Given the description of an element on the screen output the (x, y) to click on. 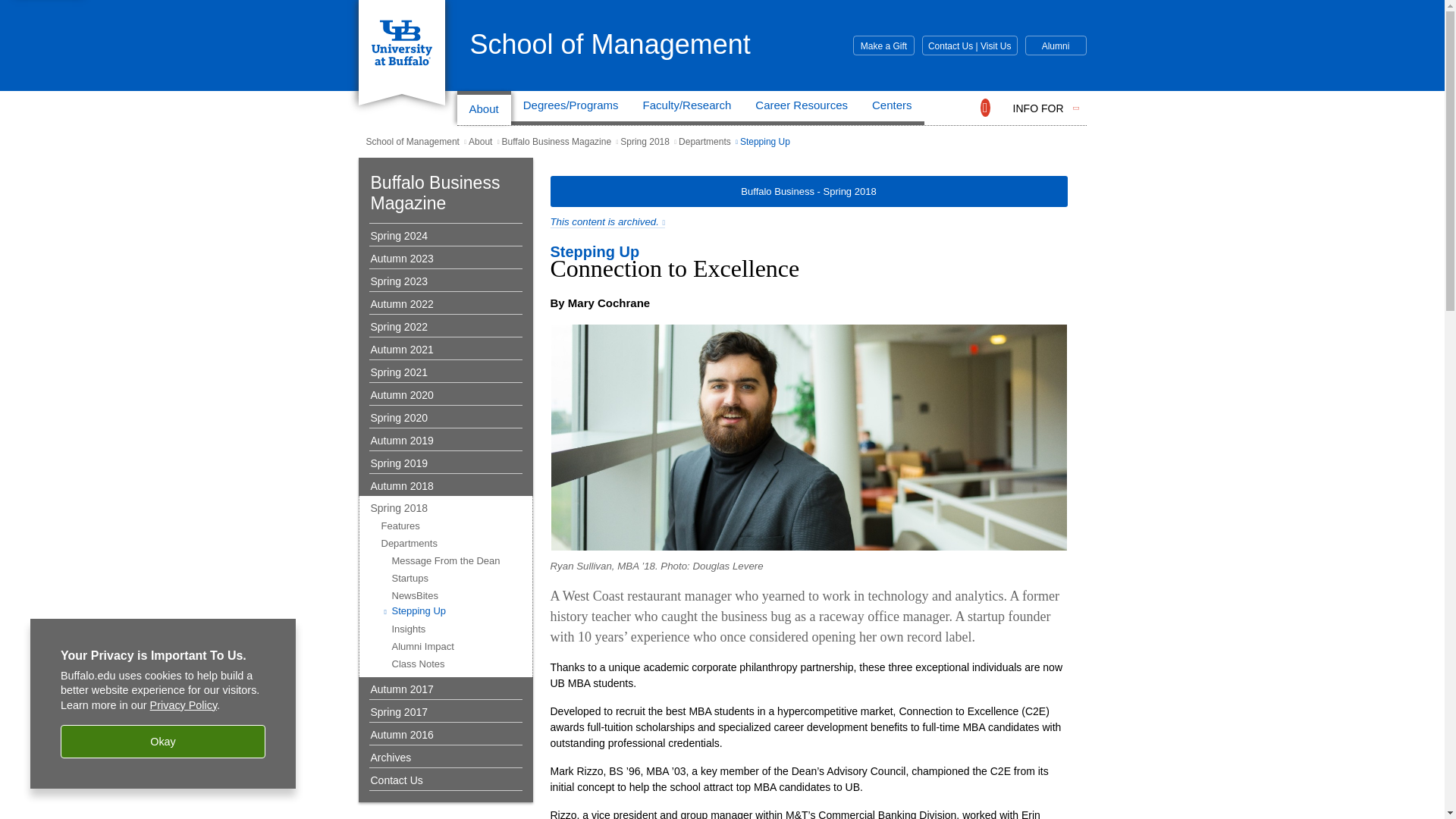
About (484, 107)
Alumni (1055, 45)
School of Management (610, 43)
This link opens a page in a new window or tab. (607, 222)
Make a Gift (883, 45)
